Given the description of an element on the screen output the (x, y) to click on. 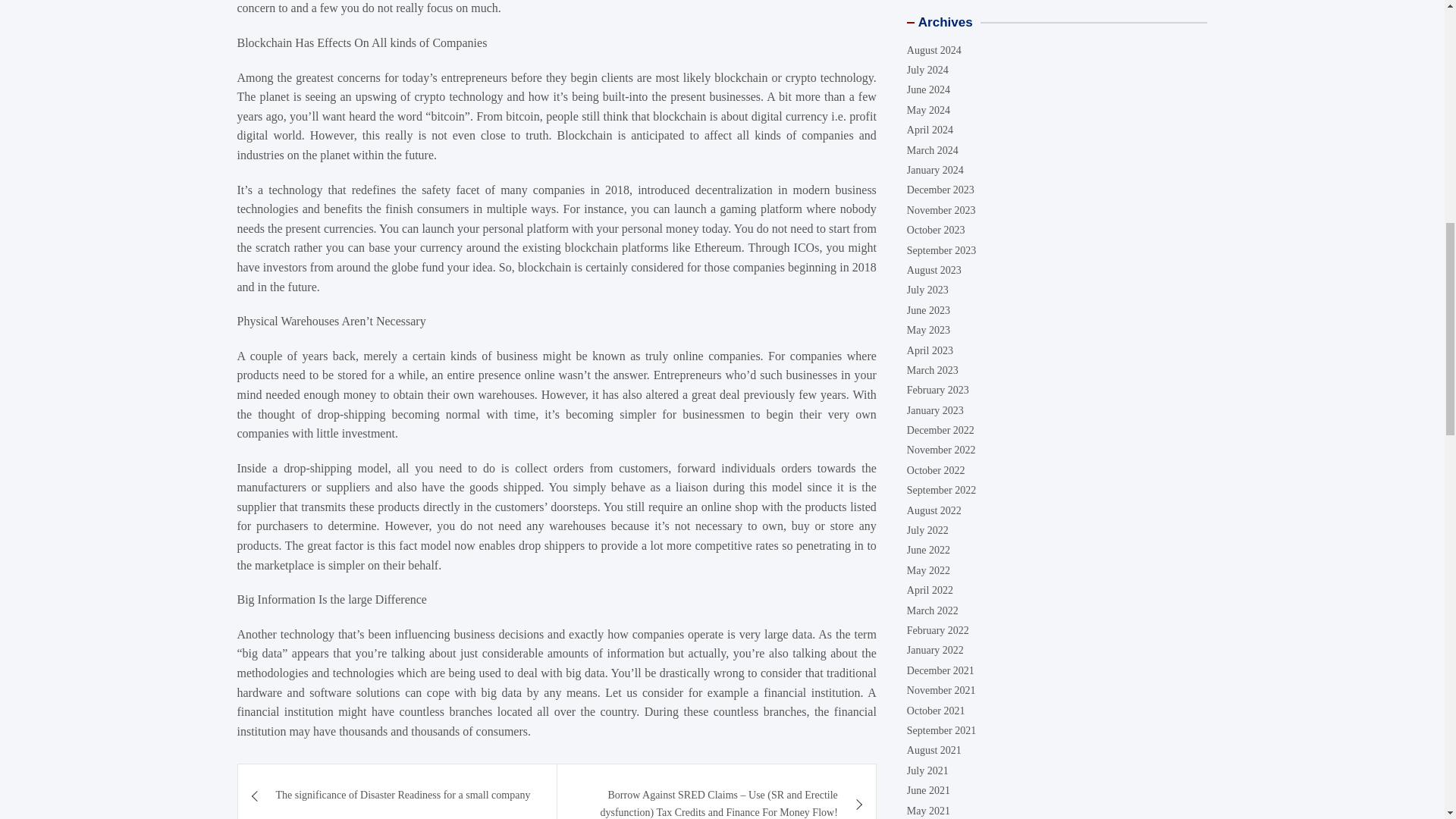
March 2023 (932, 369)
April 2023 (930, 350)
June 2023 (928, 310)
March 2024 (932, 150)
February 2023 (938, 389)
August 2023 (933, 270)
July 2024 (928, 70)
September 2023 (941, 250)
December 2023 (940, 189)
May 2024 (928, 110)
